Given the description of an element on the screen output the (x, y) to click on. 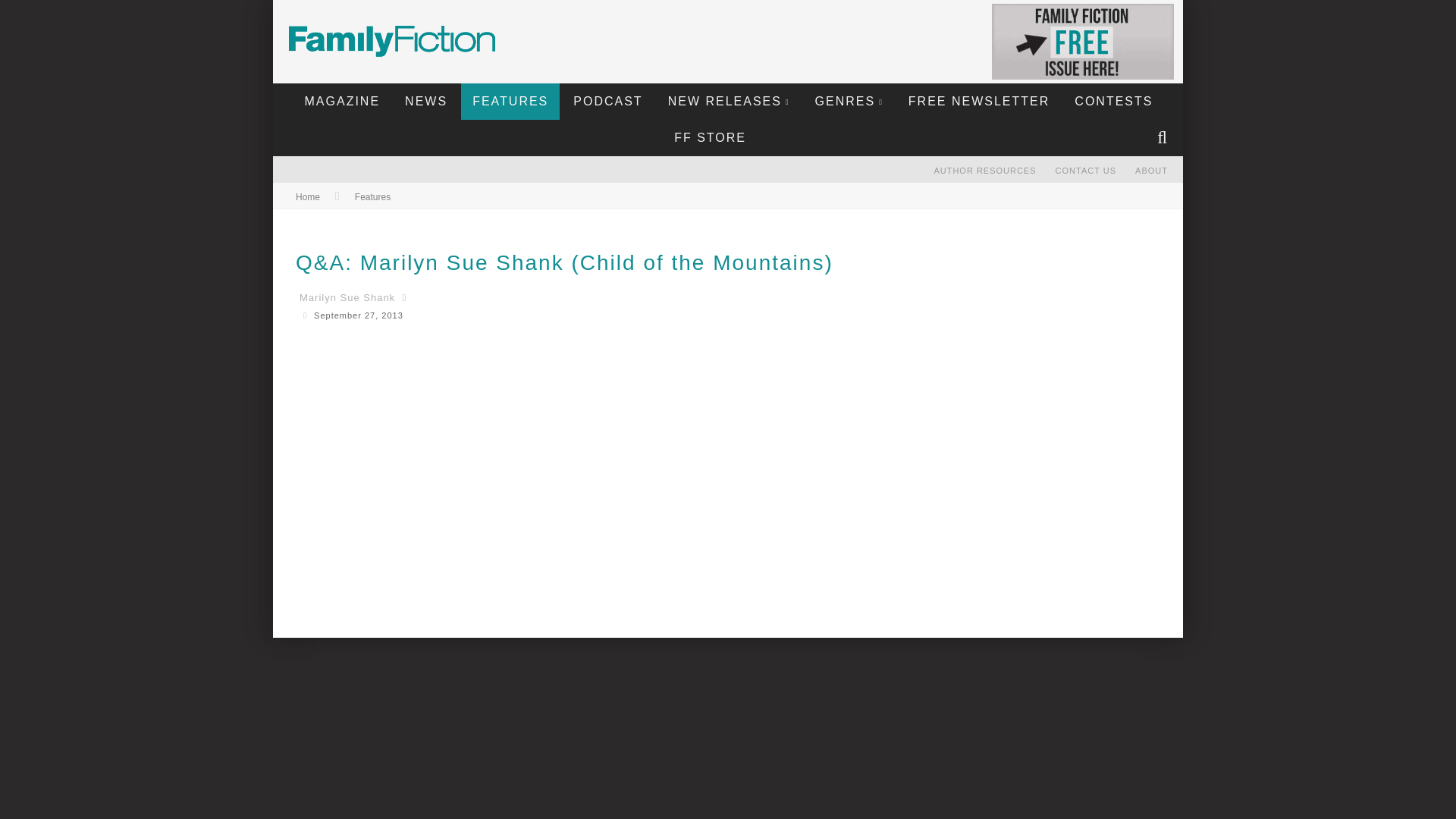
FEATURES (510, 101)
View all posts in Features (372, 196)
NEWS (425, 101)
MAGAZINE (342, 101)
Search (1163, 137)
